Given the description of an element on the screen output the (x, y) to click on. 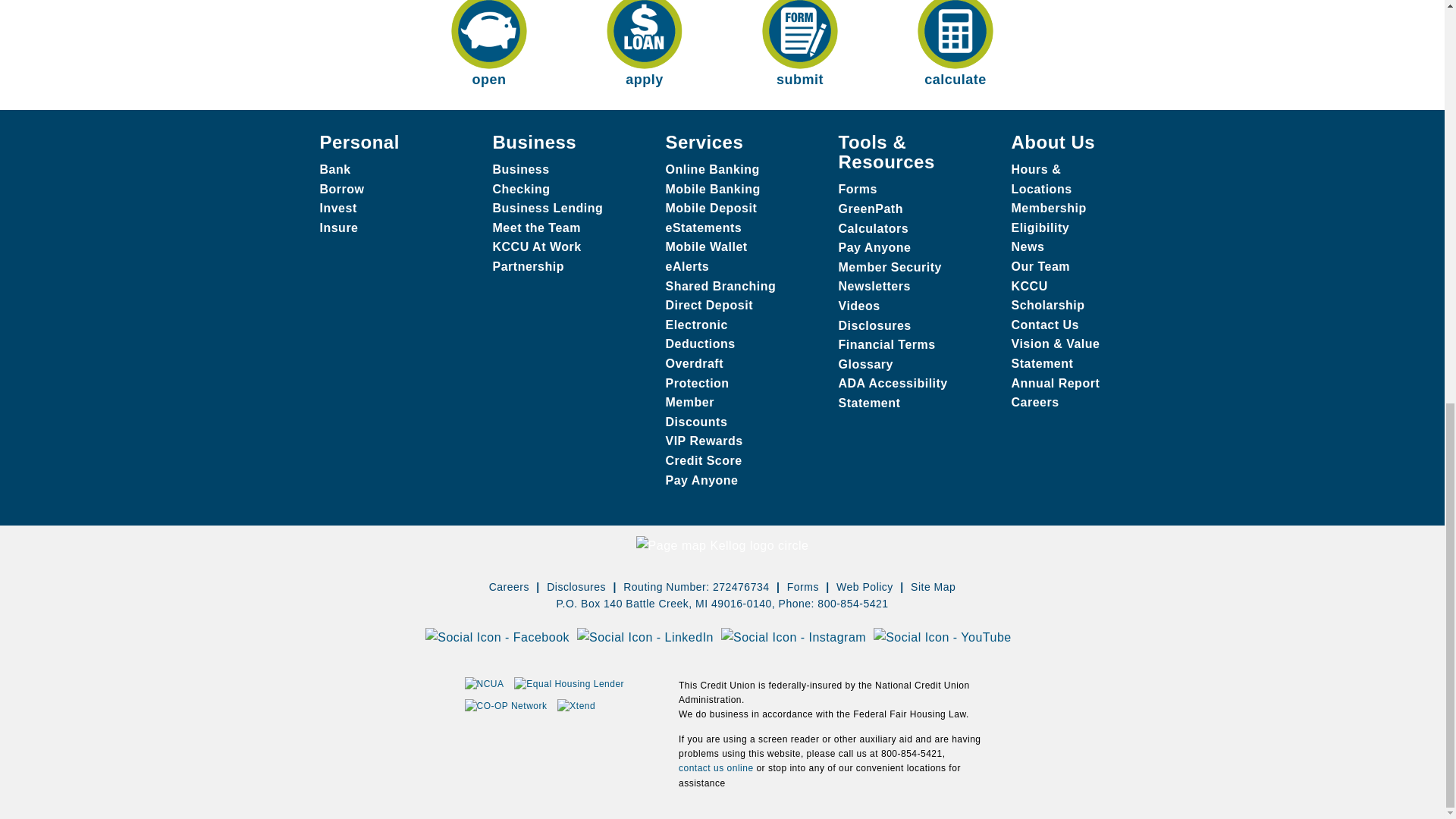
Equal Housing Lender (568, 684)
NCUA (483, 684)
Xtend (576, 706)
CO-OP Network (505, 706)
